Given the description of an element on the screen output the (x, y) to click on. 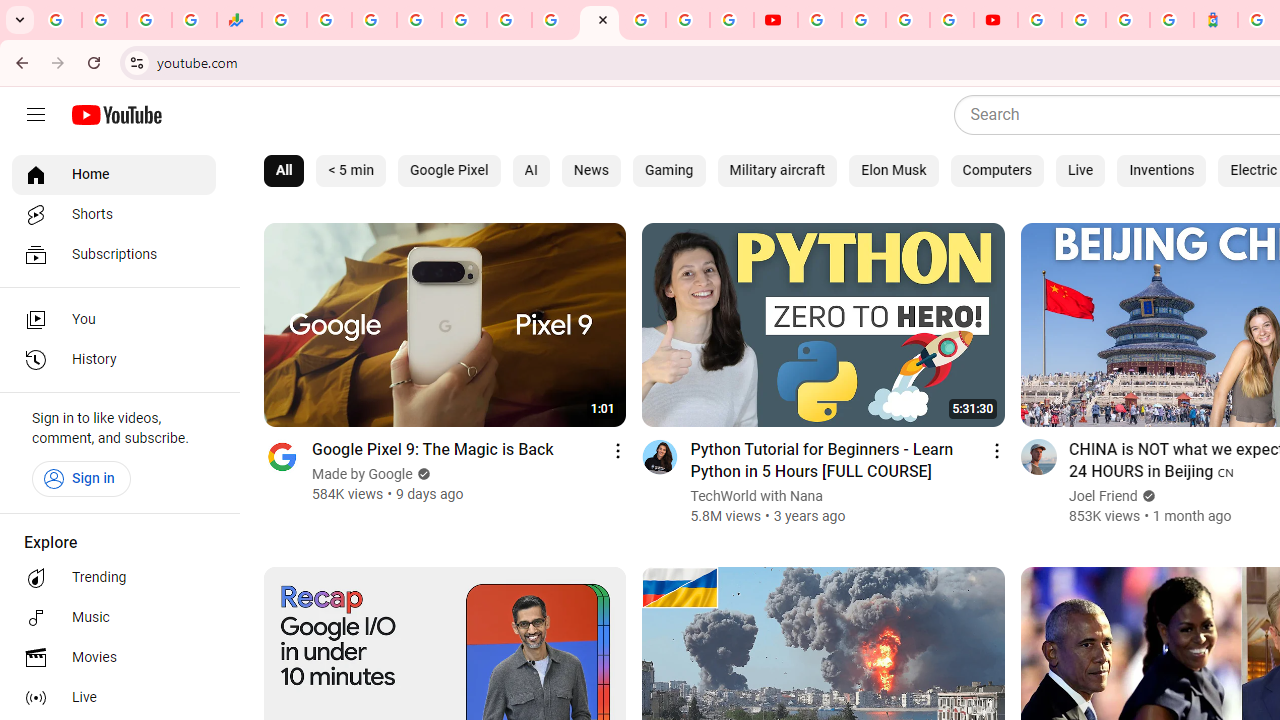
YouTube Home (116, 115)
Atour Hotel - Google hotels (1215, 20)
Android TV Policies and Guidelines - Transparency Center (554, 20)
Shorts (113, 214)
Gaming (669, 170)
History (113, 359)
Computers (996, 170)
Elon Musk (893, 170)
